Given the description of an element on the screen output the (x, y) to click on. 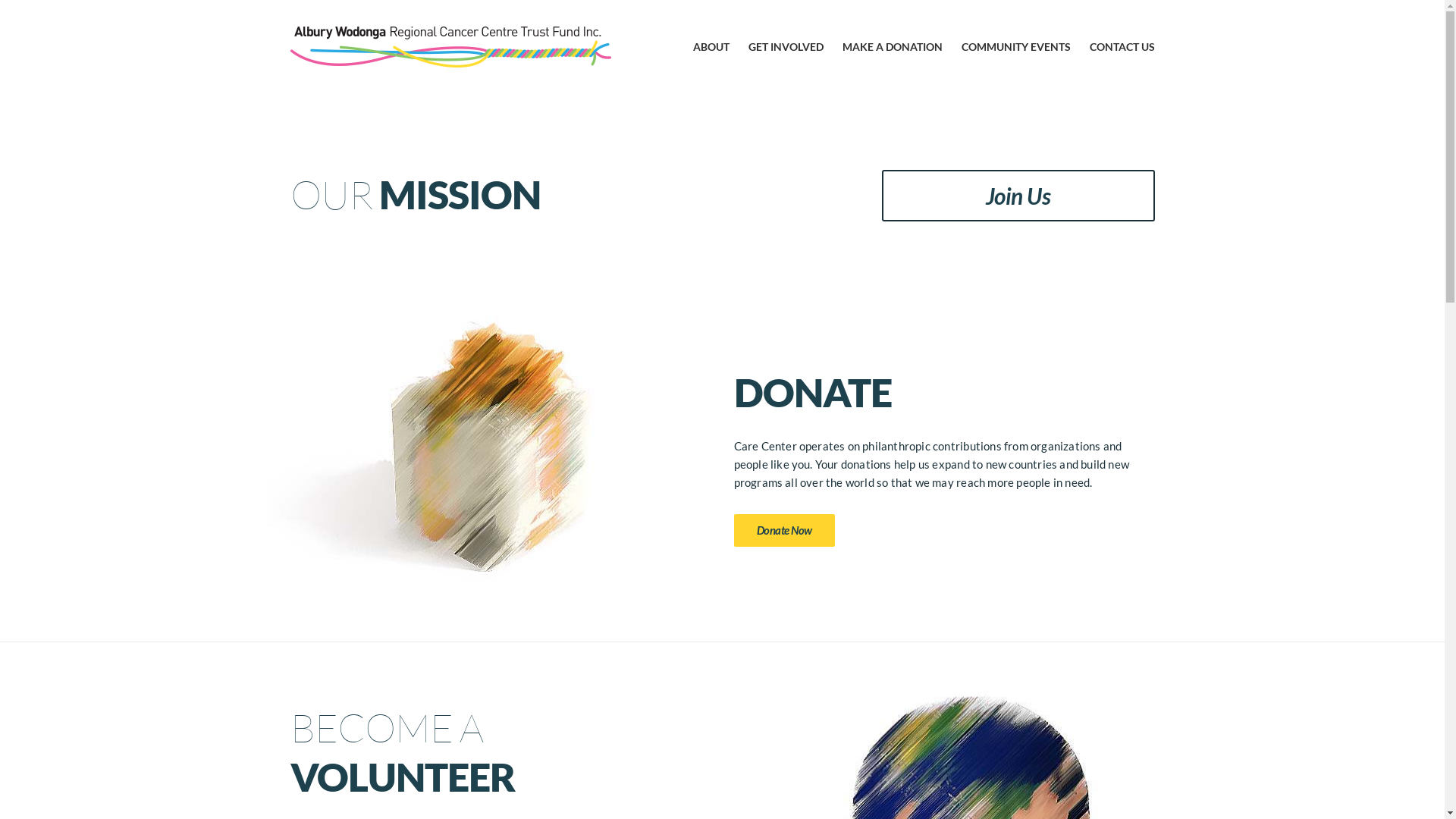
Join Us Element type: text (1017, 195)
ABOUT Element type: text (711, 46)
      Donate Now       Element type: text (784, 530)
GET INVOLVED Element type: text (784, 46)
CONTACT US Element type: text (1121, 46)
MAKE A DONATION Element type: text (891, 46)
COMMUNITY EVENTS Element type: text (1015, 46)
